Given the description of an element on the screen output the (x, y) to click on. 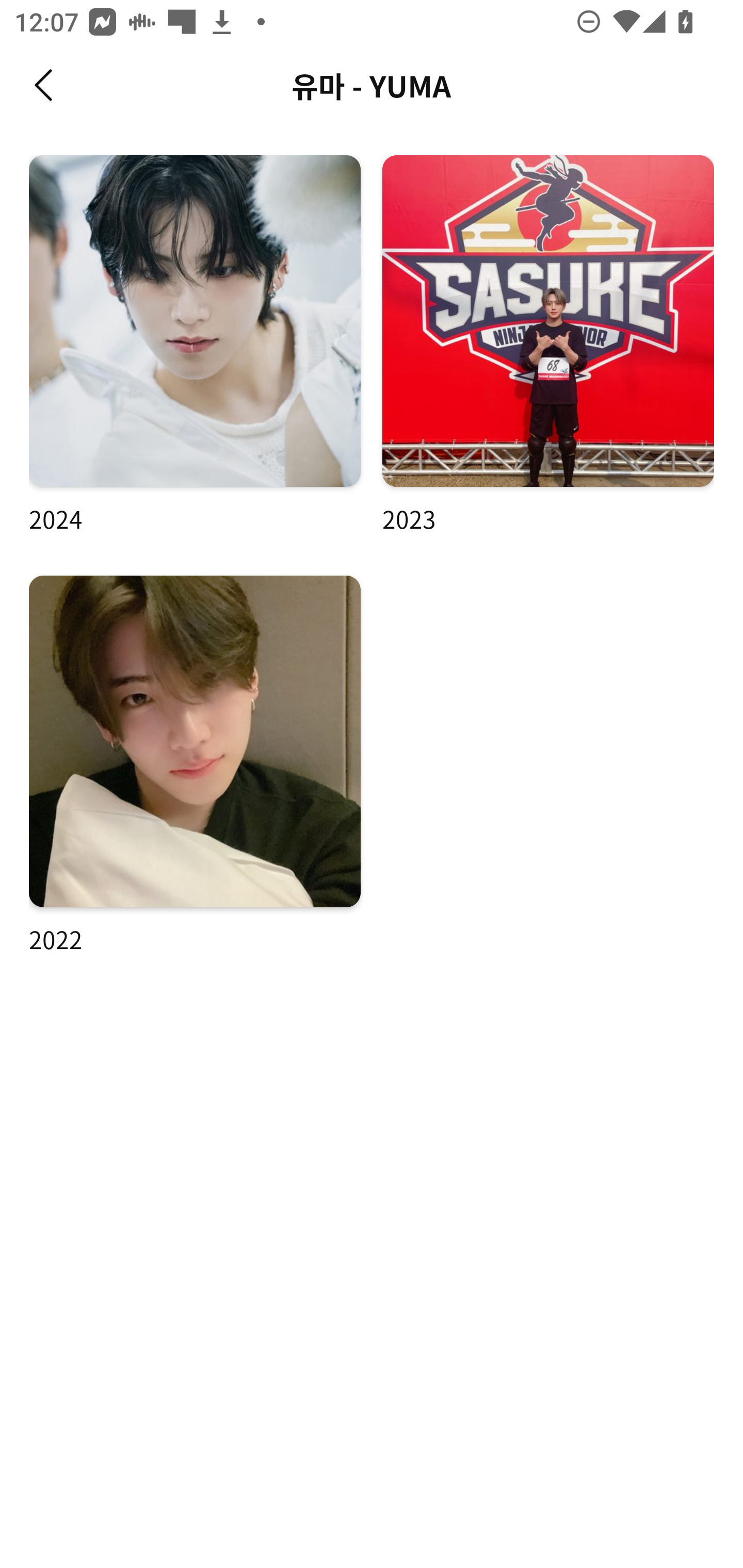
2024 (194, 345)
2023 (548, 345)
2022 (194, 765)
